Given the description of an element on the screen output the (x, y) to click on. 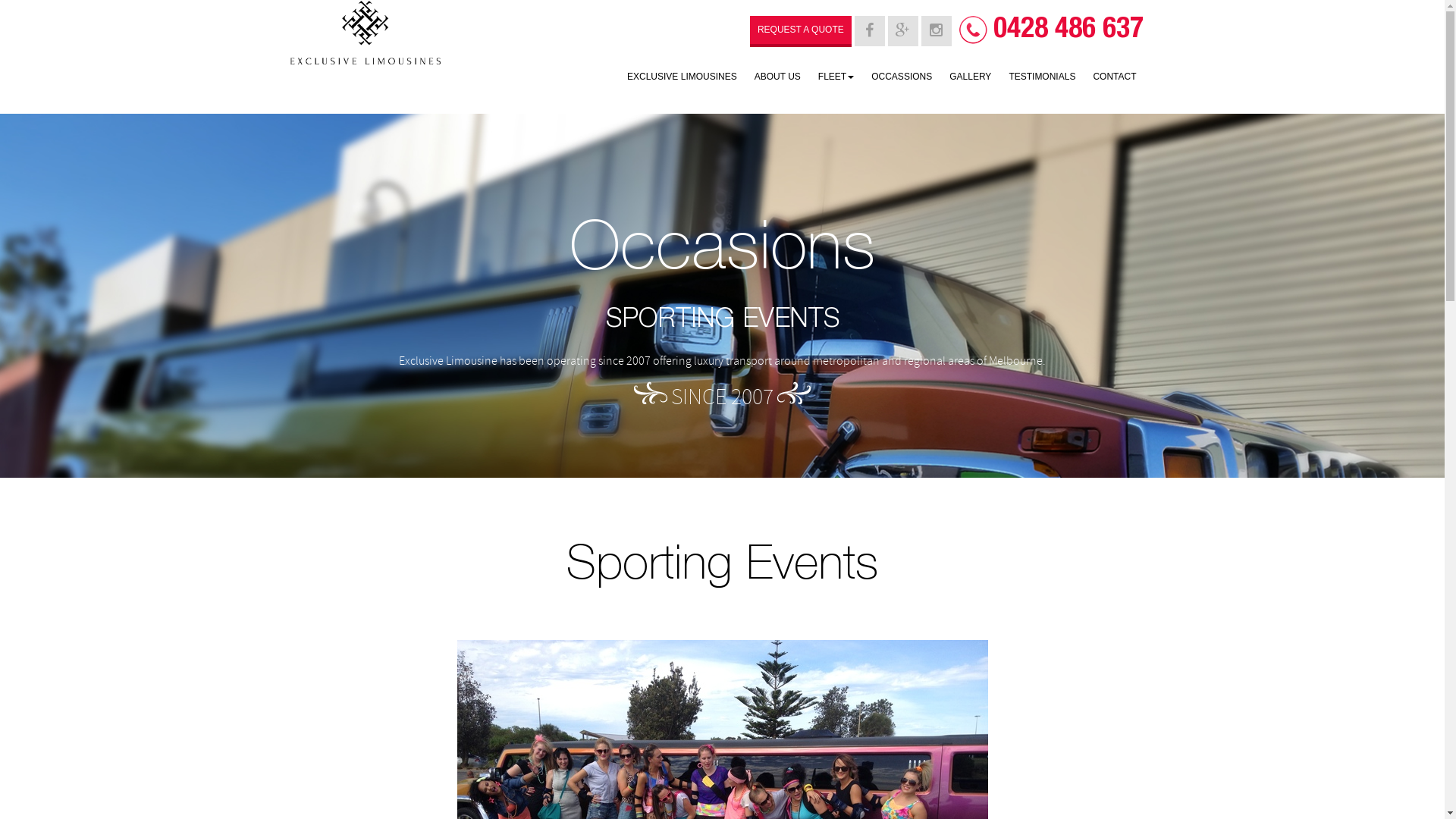
0428 486 637 Element type: text (1068, 29)
OCCASSIONS Element type: text (901, 77)
REQUEST A QUOTE Element type: text (800, 31)
FLEET Element type: text (835, 77)
GALLERY Element type: text (969, 77)
ABOUT US Element type: text (777, 77)
CONTACT Element type: text (1113, 77)
EXCLUSIVE LIMOUSINES Element type: text (681, 77)
TESTIMONIALS Element type: text (1041, 77)
